Given the description of an element on the screen output the (x, y) to click on. 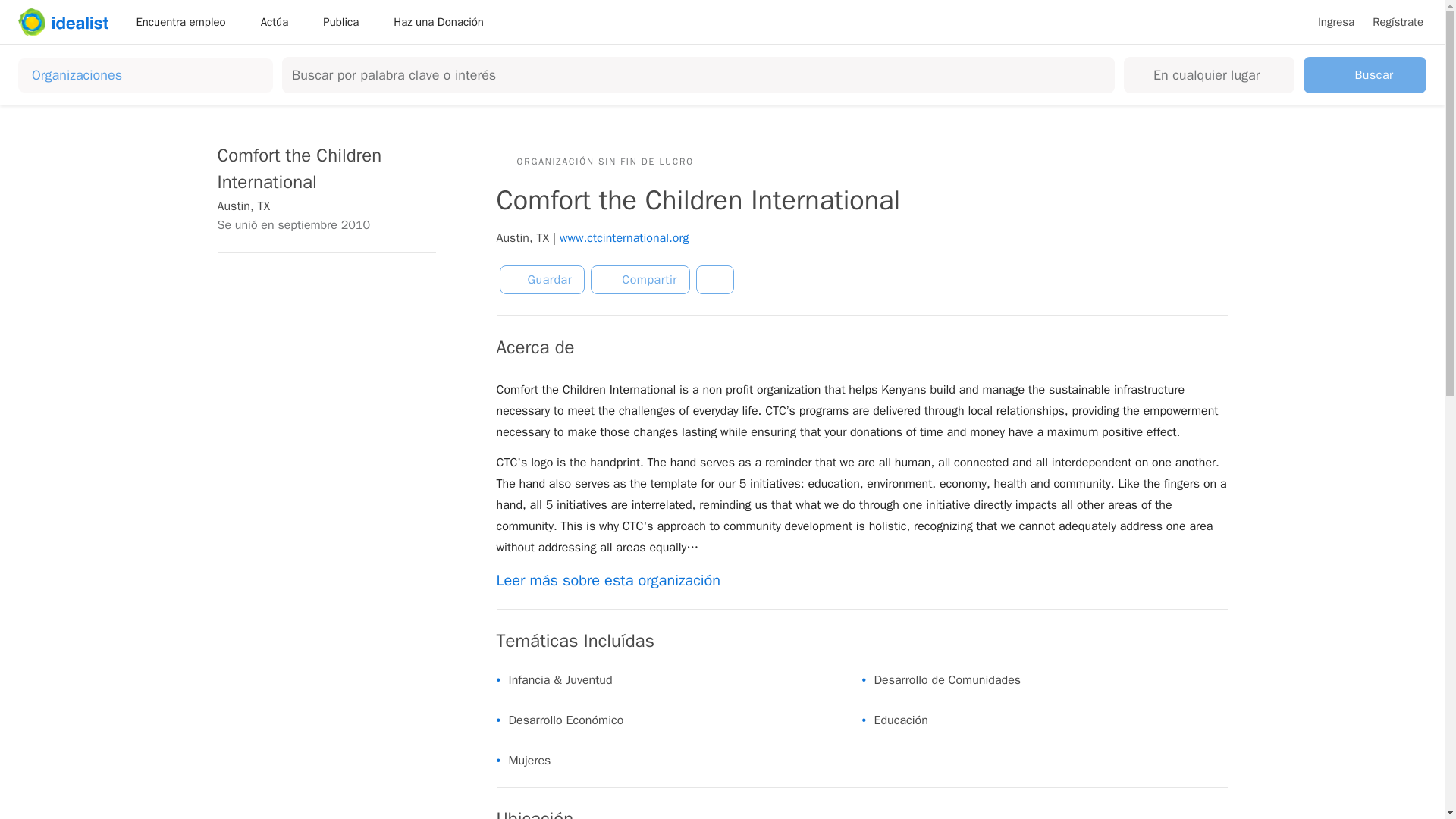
Buscar (1364, 74)
Guardar (542, 279)
Ingresa (1335, 22)
www.ctcinternational.org (623, 237)
Guardar (542, 279)
Compartir (640, 279)
